Given the description of an element on the screen output the (x, y) to click on. 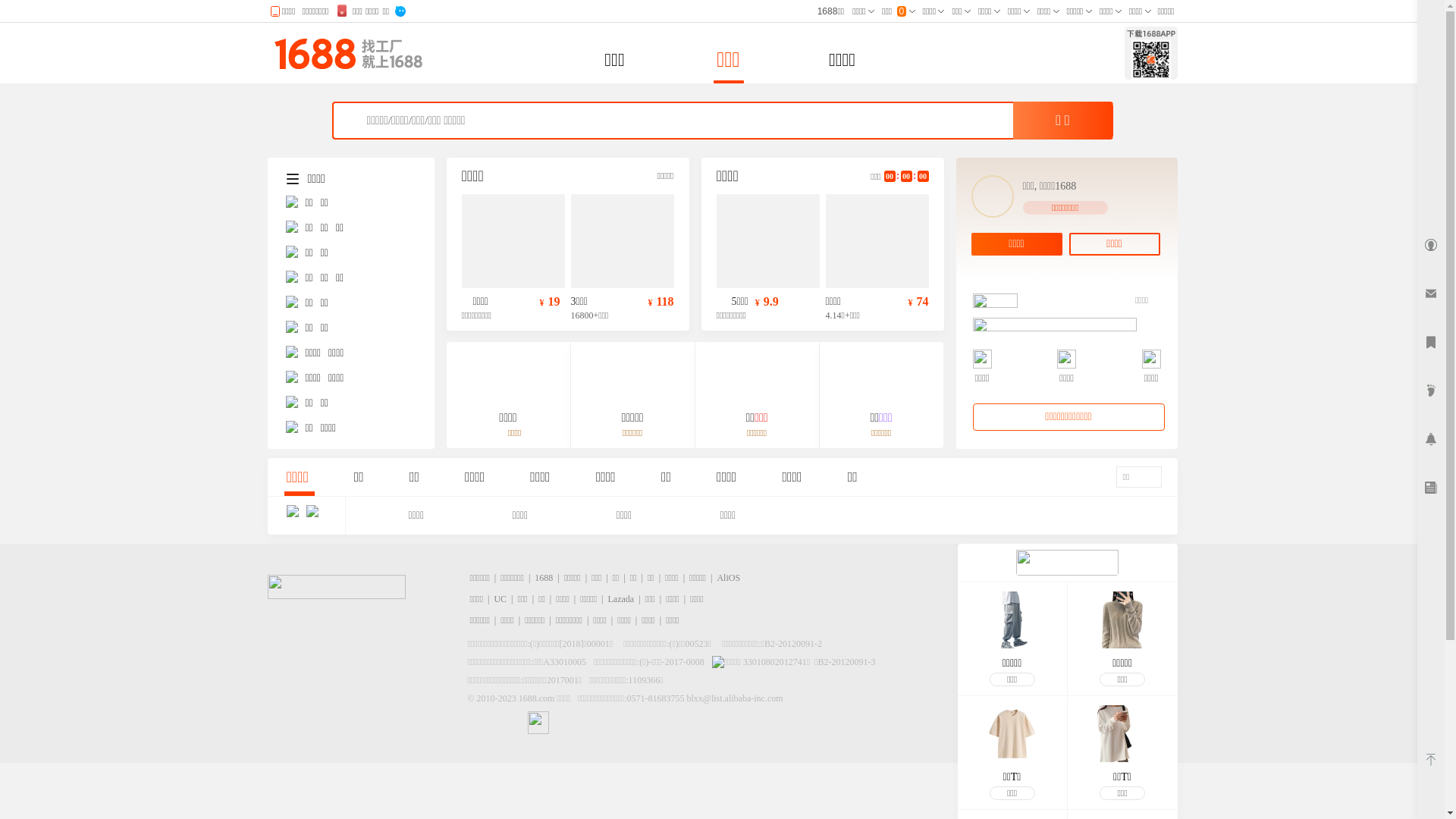
UC Element type: text (499, 598)
1688 Element type: text (543, 577)
AliOS Element type: text (728, 577)
Lazada Element type: text (621, 598)
